Given the description of an element on the screen output the (x, y) to click on. 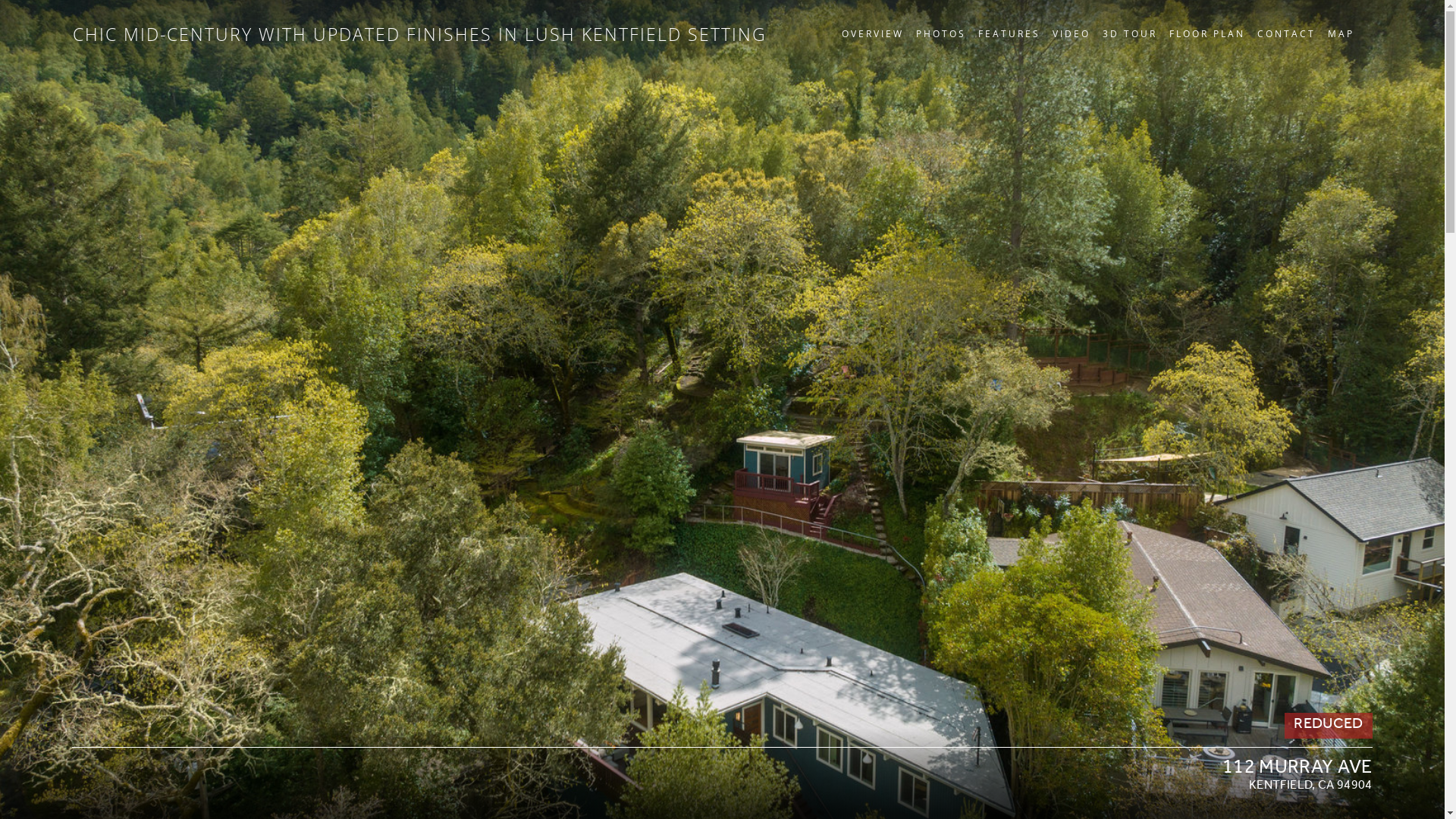
PHOTOS Element type: text (941, 33)
OVERVIEW Element type: text (872, 33)
FEATURES Element type: text (1009, 33)
FLOOR PLAN Element type: text (1207, 33)
VIDEO Element type: text (1071, 33)
CONTACT Element type: text (1286, 33)
3D TOUR Element type: text (1129, 33)
MAP Element type: text (1340, 33)
